Given the description of an element on the screen output the (x, y) to click on. 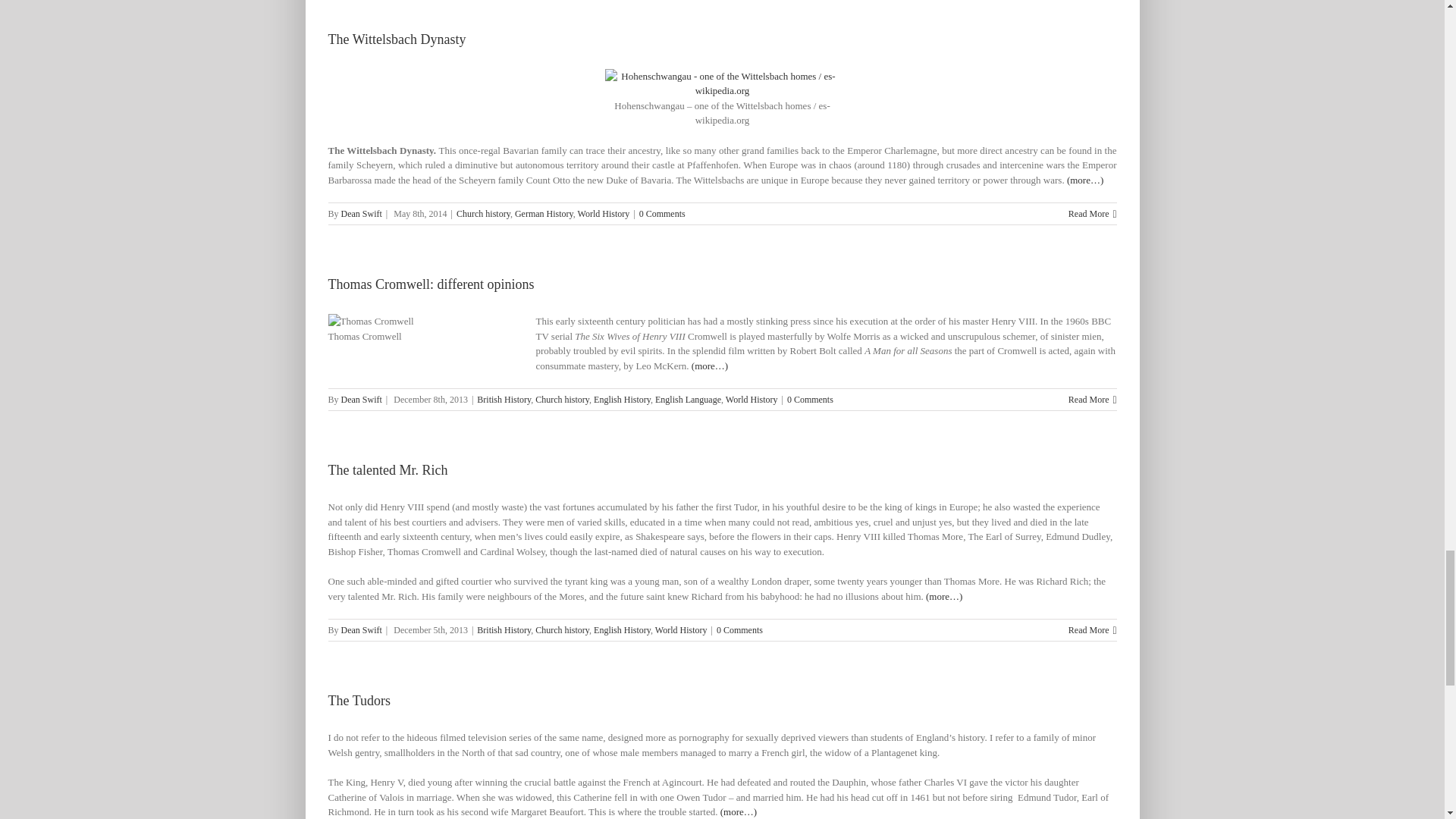
Posts by Dean Swift (360, 629)
Posts by Dean Swift (360, 398)
Posts by Dean Swift (360, 213)
